Given the description of an element on the screen output the (x, y) to click on. 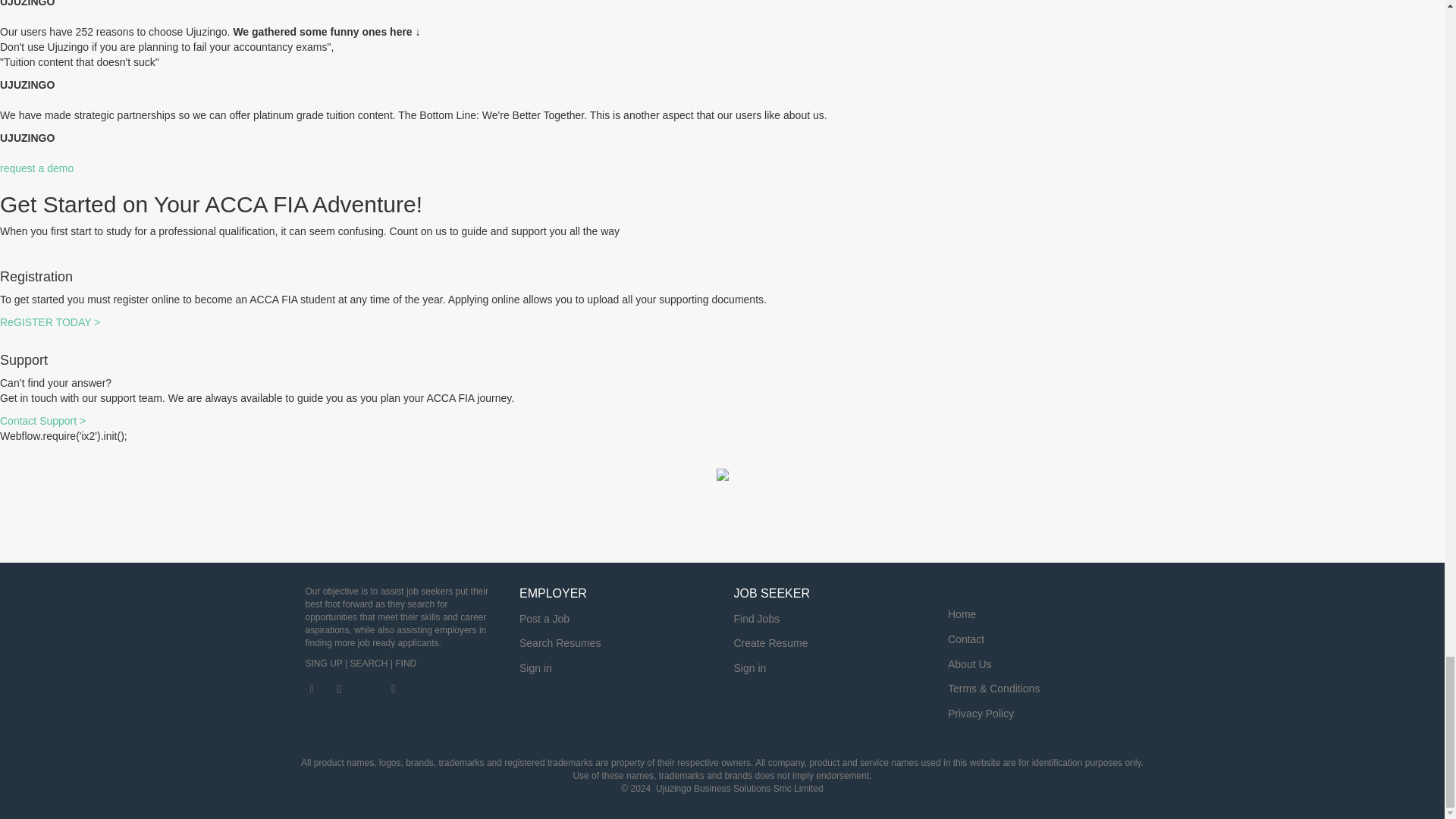
SING UP (323, 663)
request a demo (37, 168)
